Given the description of an element on the screen output the (x, y) to click on. 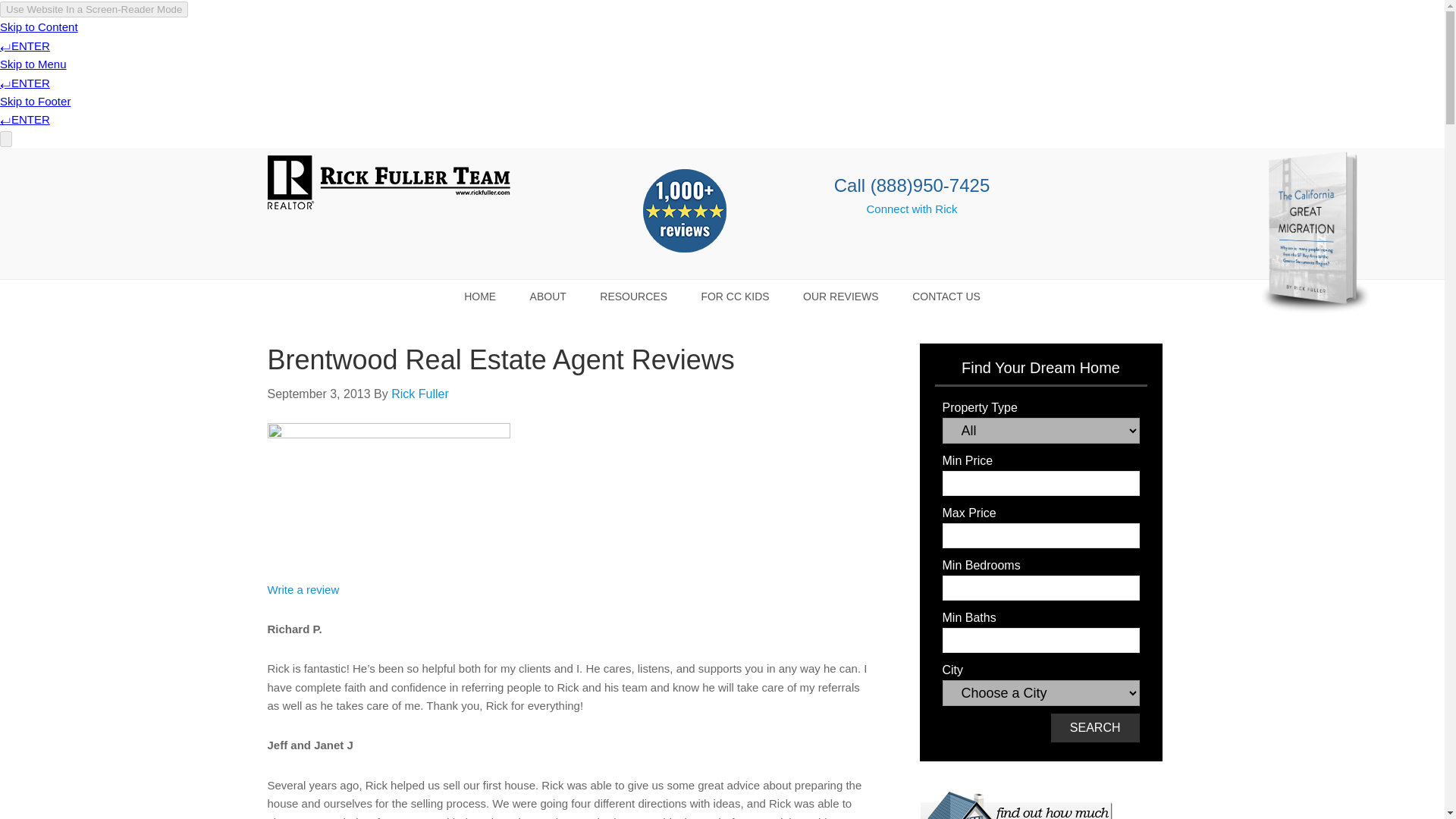
Search (1095, 727)
OUR REVIEWS (840, 296)
CONTACT US (945, 296)
Rick Fuller Realtors, Inc (387, 185)
ABOUT (547, 296)
Connect with Rick (911, 208)
FOR CC KIDS (734, 296)
RESOURCES (633, 296)
HOME (479, 296)
write a review (302, 589)
Rick Fuller (419, 393)
